Given the description of an element on the screen output the (x, y) to click on. 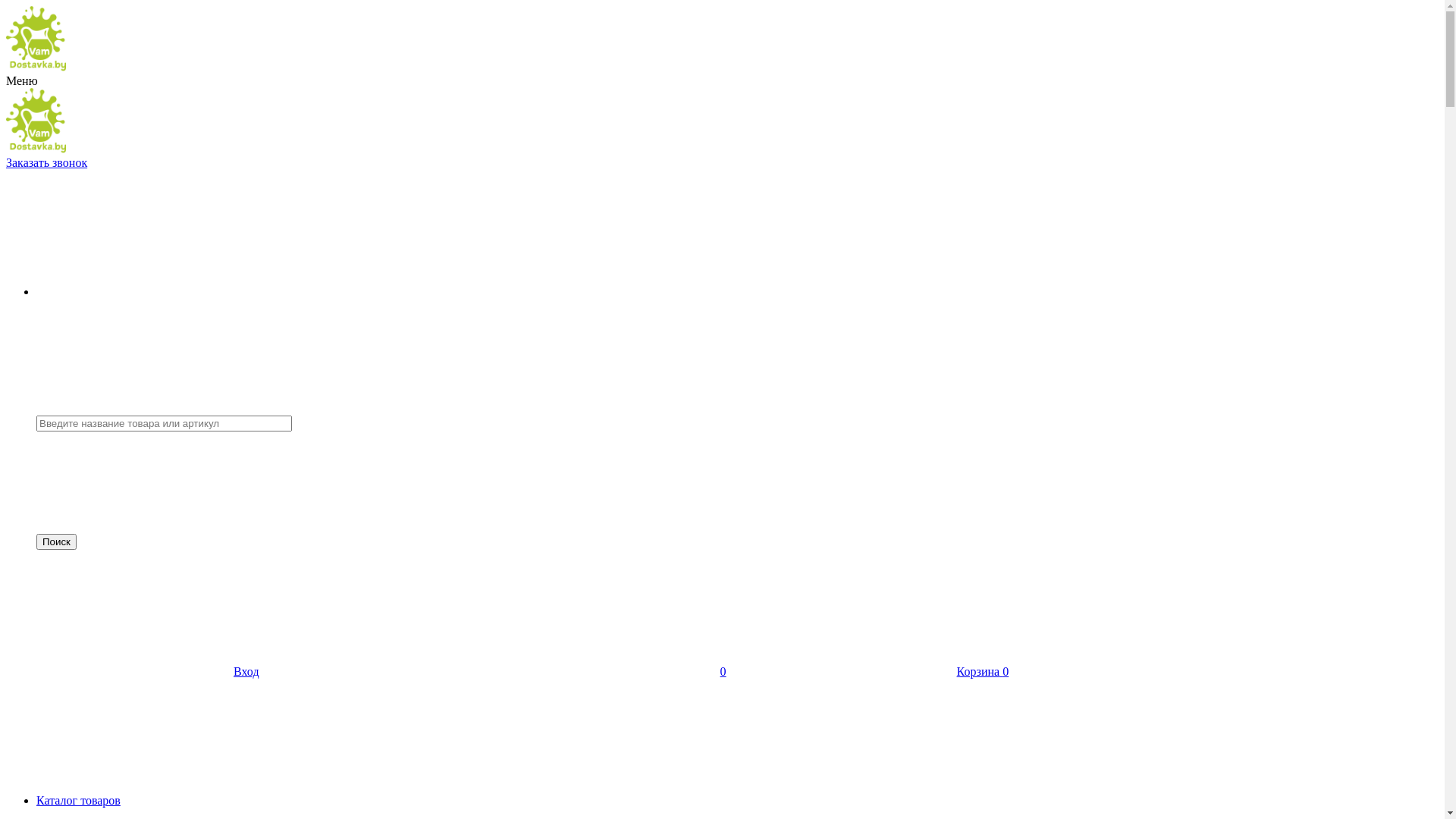
LOGO1.png Element type: hover (35, 38)
LOGO1.png Element type: hover (35, 120)
0 Element type: text (609, 671)
